Given the description of an element on the screen output the (x, y) to click on. 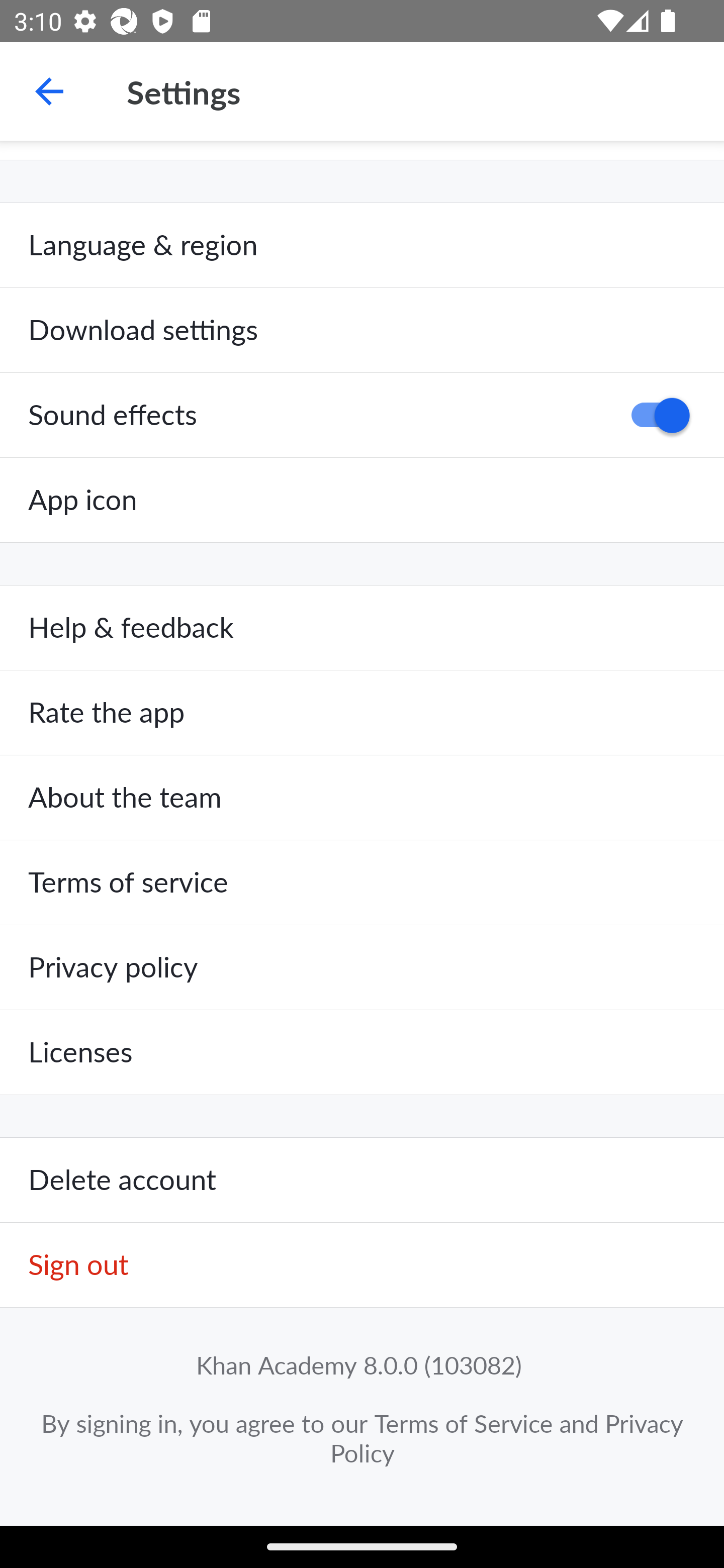
Navigate up (49, 91)
Language & region (362, 245)
Download settings (362, 330)
ON (653, 415)
App icon (362, 499)
Help & feedback (362, 627)
Rate the app (362, 713)
About the team (362, 797)
Terms of service (362, 882)
Privacy policy (362, 967)
Licenses (362, 1051)
Delete account (362, 1180)
Sign out (362, 1265)
